Given the description of an element on the screen output the (x, y) to click on. 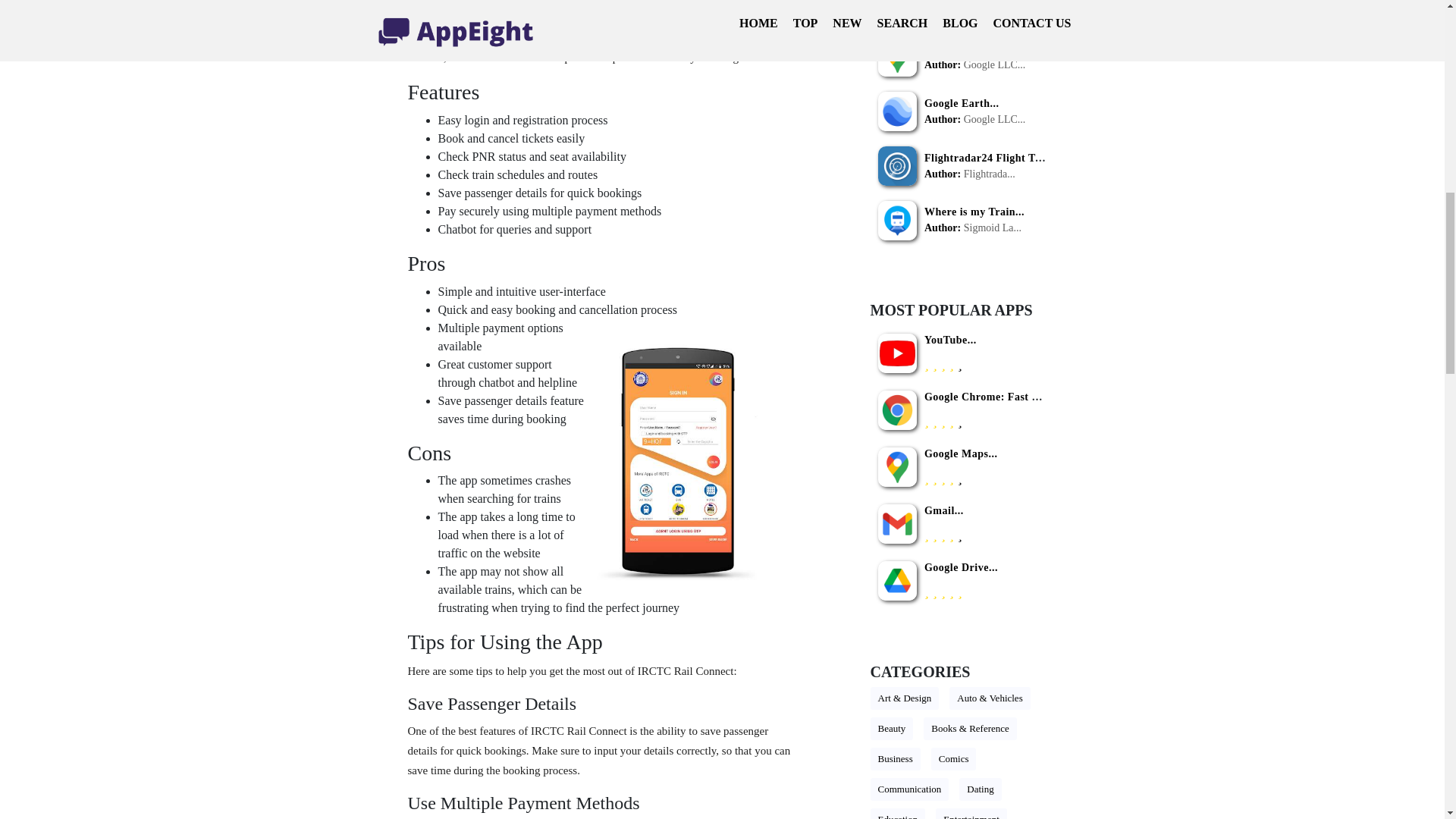
Where is my Train... (974, 211)
Google Maps... (960, 453)
Google Maps... (960, 48)
Google Earth... (961, 102)
YouTube... (950, 339)
Flightradar24 Flight Tracker... (999, 157)
Google Drive... (960, 567)
Gmail... (943, 510)
